Given the description of an element on the screen output the (x, y) to click on. 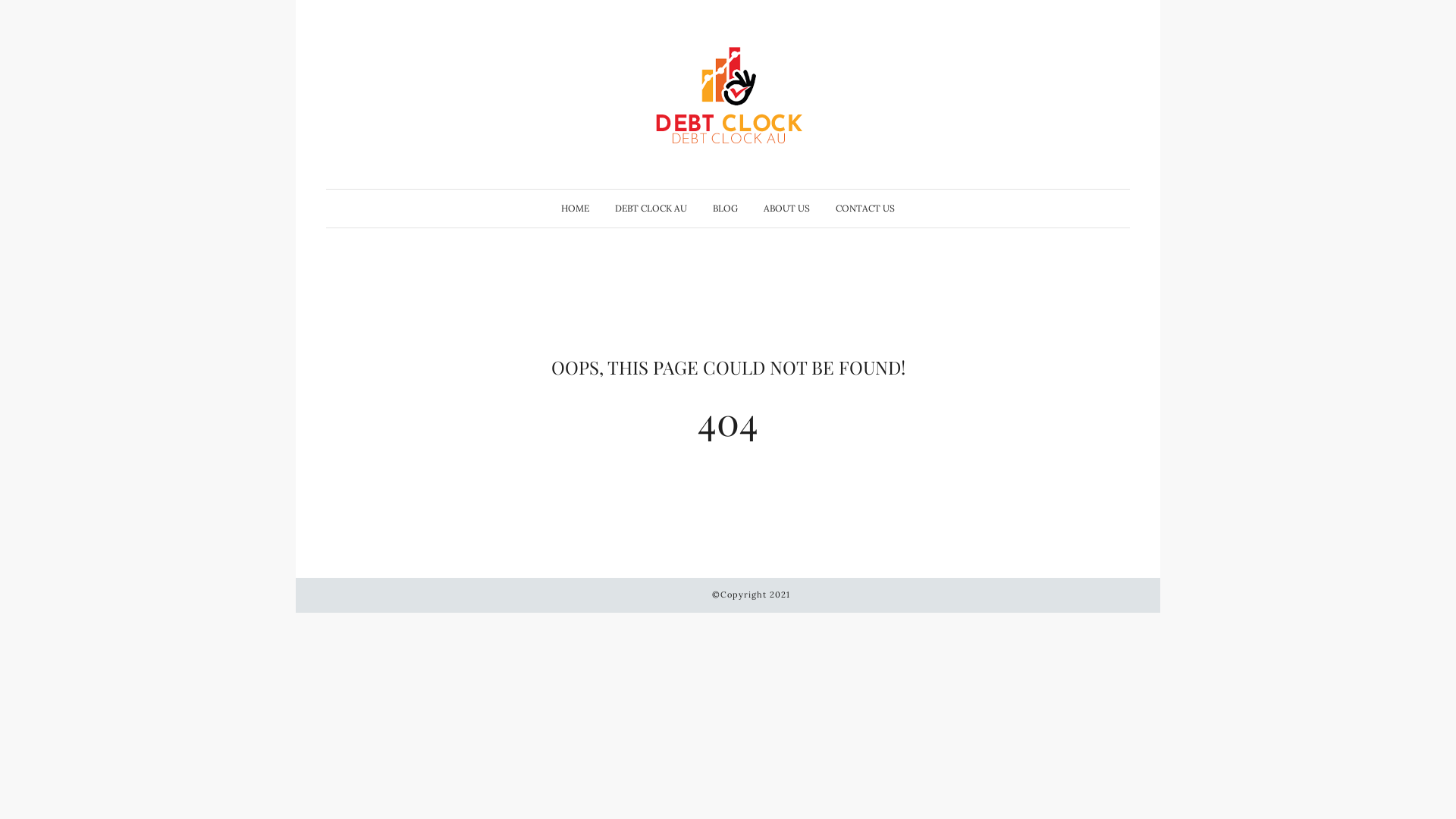
CONTACT US Element type: text (864, 208)
ABOUT US Element type: text (786, 208)
BLOG Element type: text (724, 208)
HOME Element type: text (575, 208)
DEBT CLOCK AU Element type: text (651, 208)
